Given the description of an element on the screen output the (x, y) to click on. 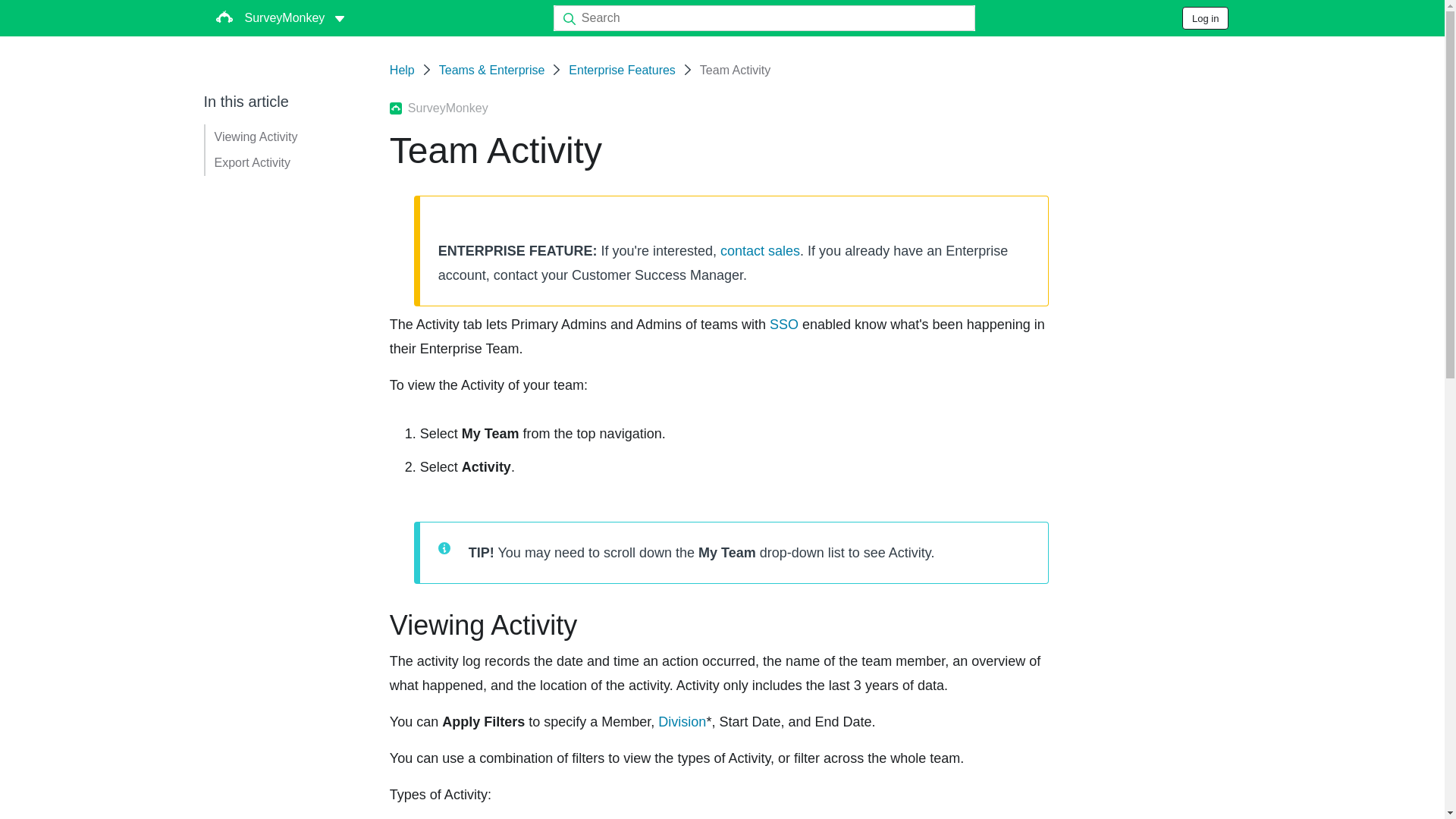
contact sales (759, 250)
Division (682, 721)
Export Activity (251, 162)
Log in (1205, 17)
SSO (783, 324)
Viewing Activity (255, 136)
Enterprise Features (622, 70)
Help (402, 70)
